Given the description of an element on the screen output the (x, y) to click on. 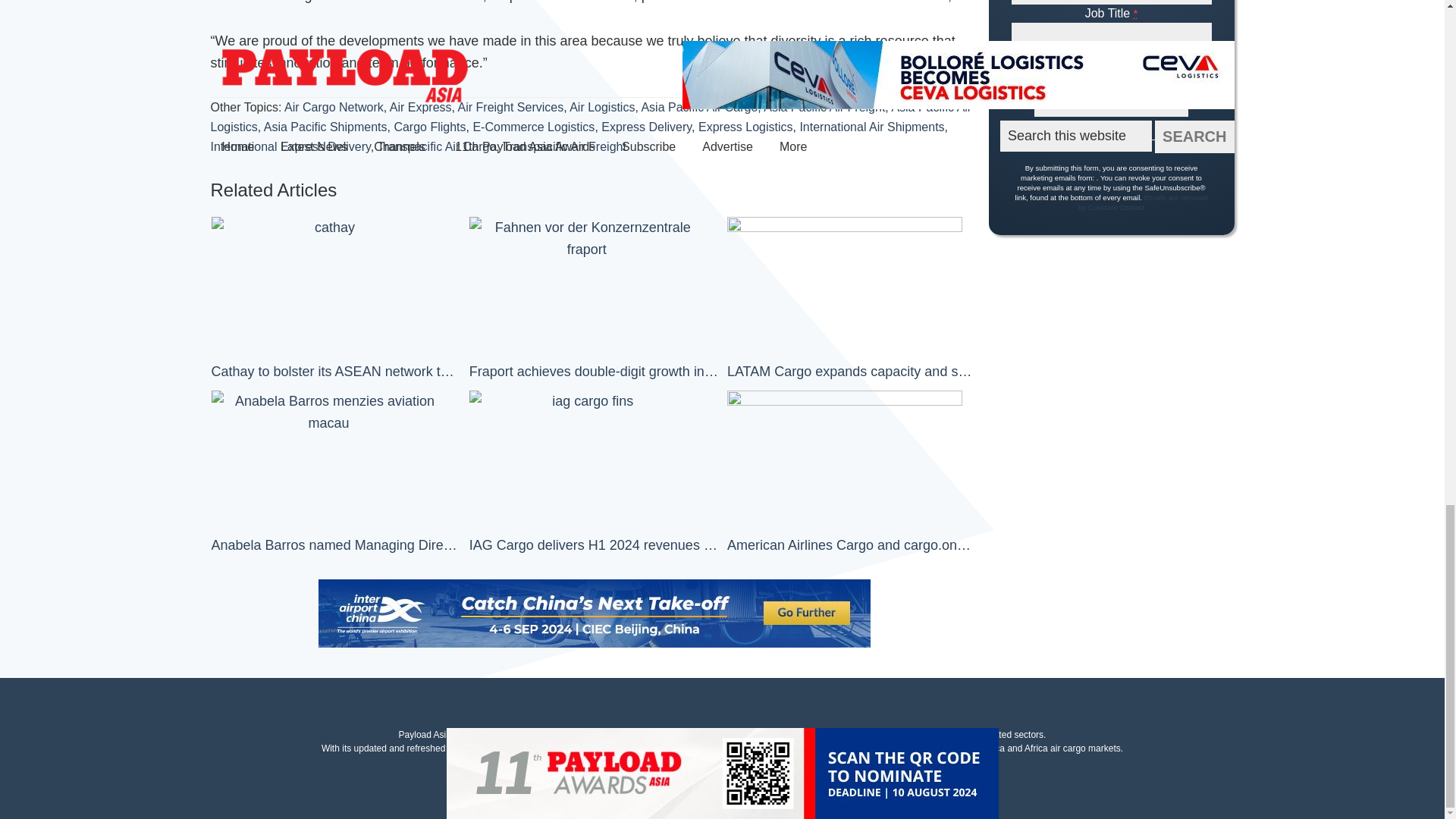
Air Express (420, 106)
Air Freight Services (511, 106)
Air Cargo Network (333, 106)
Sign up (1110, 92)
